Given the description of an element on the screen output the (x, y) to click on. 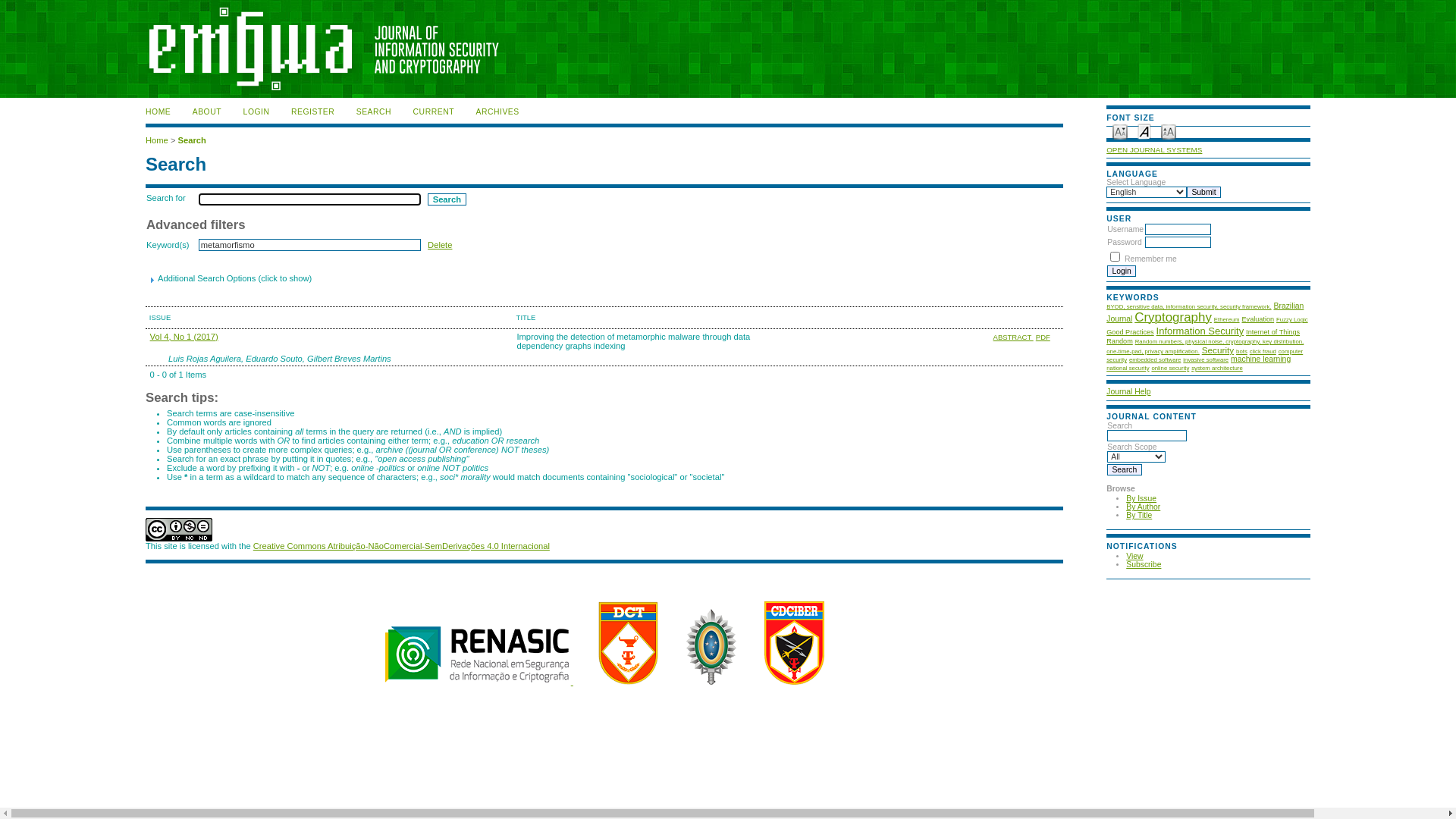
Ethereum Element type: text (1226, 318)
click fraud Element type: text (1262, 350)
Make font size larger Element type: text (1168, 130)
Good Practices Element type: text (1130, 331)
SEARCH Element type: text (373, 111)
By Author Element type: text (1143, 506)
ABSTRACT Element type: text (1013, 336)
ARCHIVES Element type: text (496, 111)
Vol 4, No 1 (2017) Element type: text (184, 336)
Random Element type: text (1119, 340)
Make font size smaller Element type: text (1119, 130)
Search Element type: text (1124, 469)
View Element type: text (1134, 556)
invasive software Element type: text (1205, 358)
LOGIN Element type: text (256, 111)
PDF Element type: text (1042, 336)
Information Security Element type: text (1200, 331)
national security Element type: text (1127, 367)
online security Element type: text (1170, 367)
Journal Help Element type: text (1128, 391)
Make font size default Element type: text (1143, 130)
bots Element type: text (1241, 350)
By Issue Element type: text (1141, 498)
Search Element type: text (446, 199)
Security Element type: text (1217, 350)
embedded software Element type: text (1154, 358)
system architecture Element type: text (1216, 367)
ABOUT Element type: text (206, 111)
Search Element type: text (192, 139)
Login Element type: text (1121, 270)
machine learning Element type: text (1260, 358)
computer security Element type: text (1204, 354)
Cryptography Element type: text (1172, 318)
By Title Element type: text (1138, 515)
HOME Element type: text (157, 111)
Subscribe Element type: text (1143, 564)
Evaluation Element type: text (1257, 318)
CURRENT Element type: text (433, 111)
Internet of Things Element type: text (1272, 331)
Home Element type: text (156, 139)
OPEN JOURNAL SYSTEMS Element type: text (1153, 149)
REGISTER Element type: text (312, 111)
Fuzzy Logic Element type: text (1292, 318)
Delete Element type: text (439, 244)
Brazilian Journal Element type: text (1204, 312)
Submit Element type: text (1203, 191)
